Given the description of an element on the screen output the (x, y) to click on. 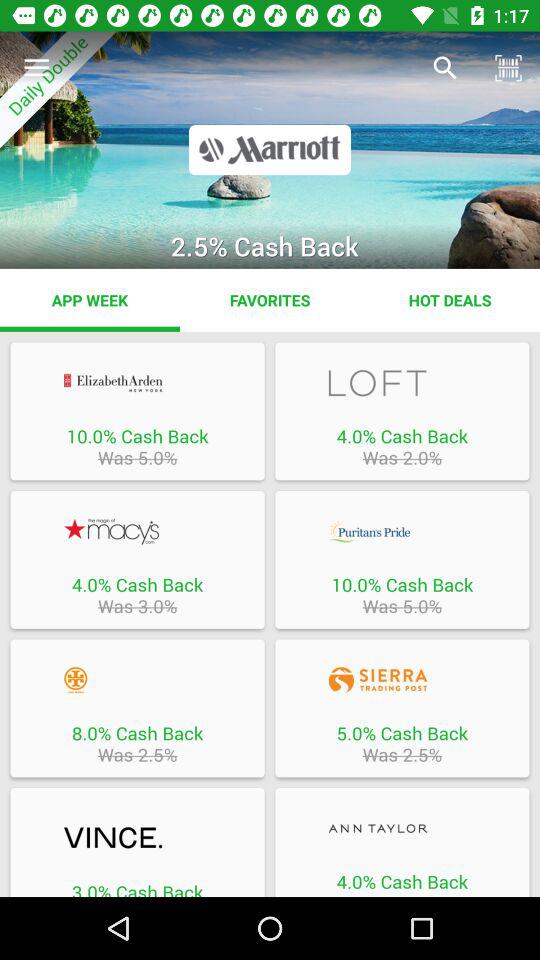
turn off the app next to the app week (270, 299)
